Given the description of an element on the screen output the (x, y) to click on. 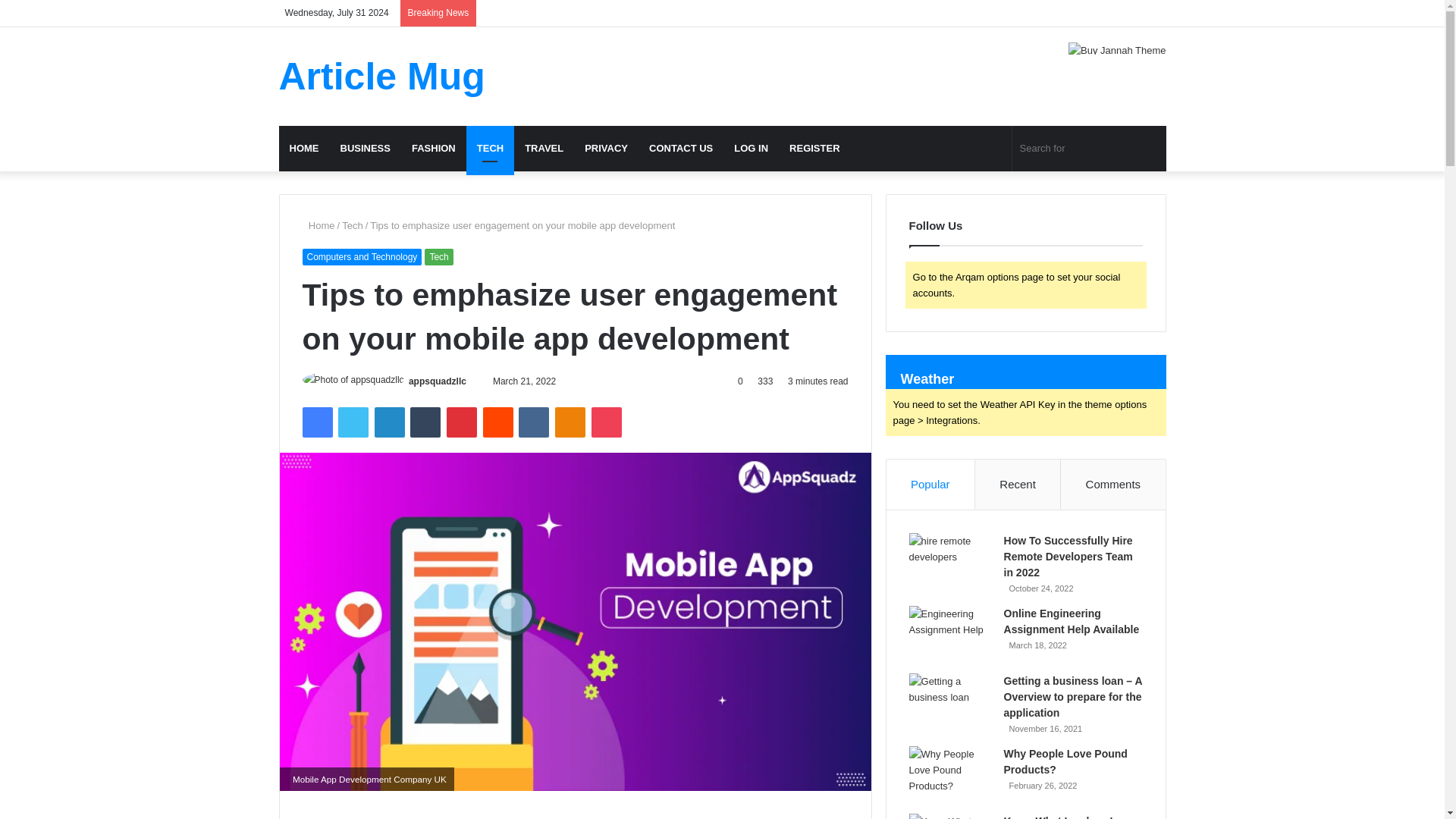
Tumblr (425, 422)
CONTACT US (681, 148)
LOG IN (750, 148)
TECH (489, 148)
Article Mug (381, 76)
PRIVACY (606, 148)
Computers and Technology (361, 256)
Tech (438, 256)
TRAVEL (543, 148)
REGISTER (814, 148)
FASHION (433, 148)
HOME (304, 148)
Search for (1088, 148)
Pinterest (461, 422)
BUSINESS (364, 148)
